Given the description of an element on the screen output the (x, y) to click on. 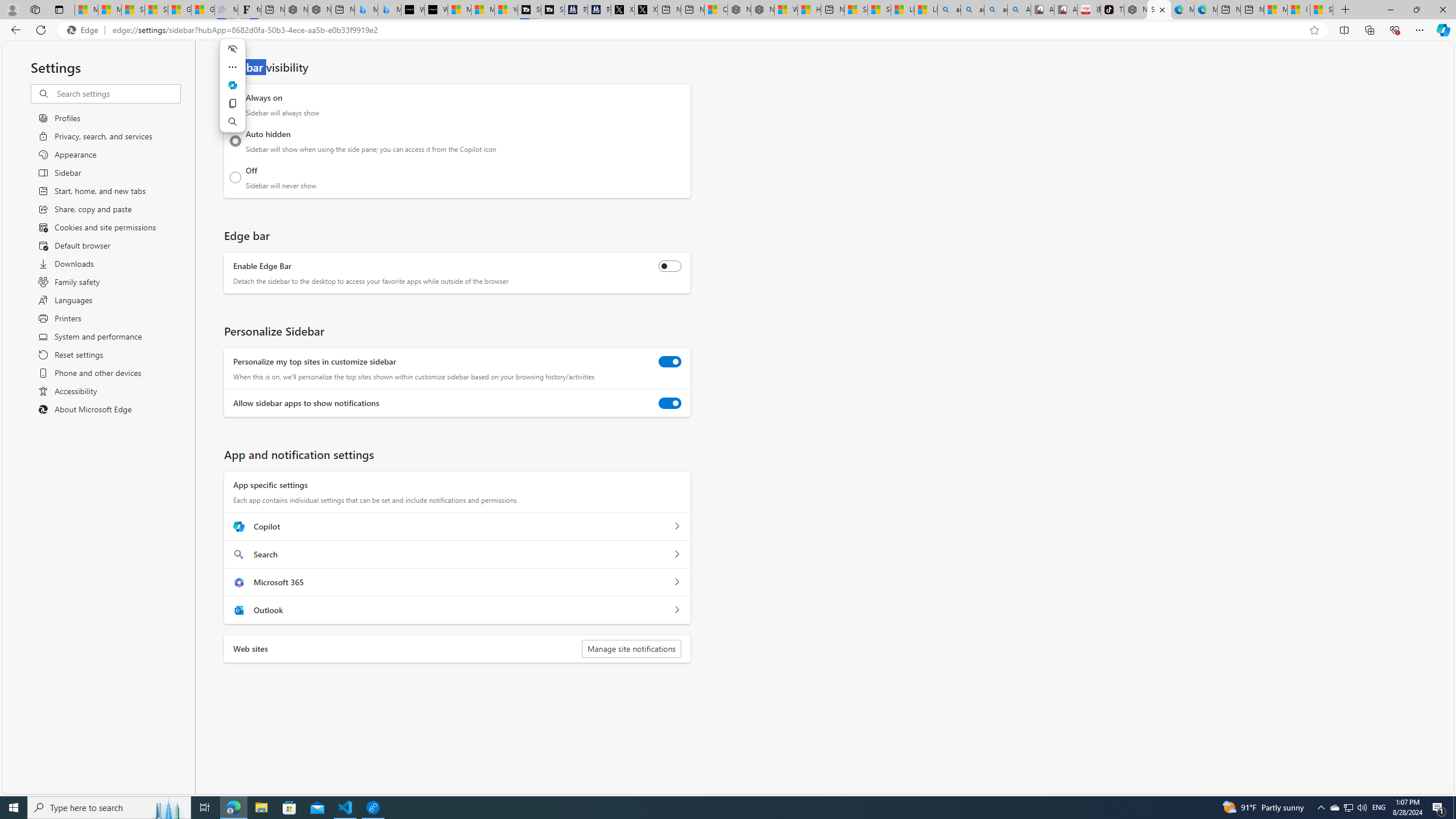
Settings (1158, 9)
I Gained 20 Pounds of Muscle in 30 Days! | Watch (1298, 9)
More actions (231, 67)
